Given the description of an element on the screen output the (x, y) to click on. 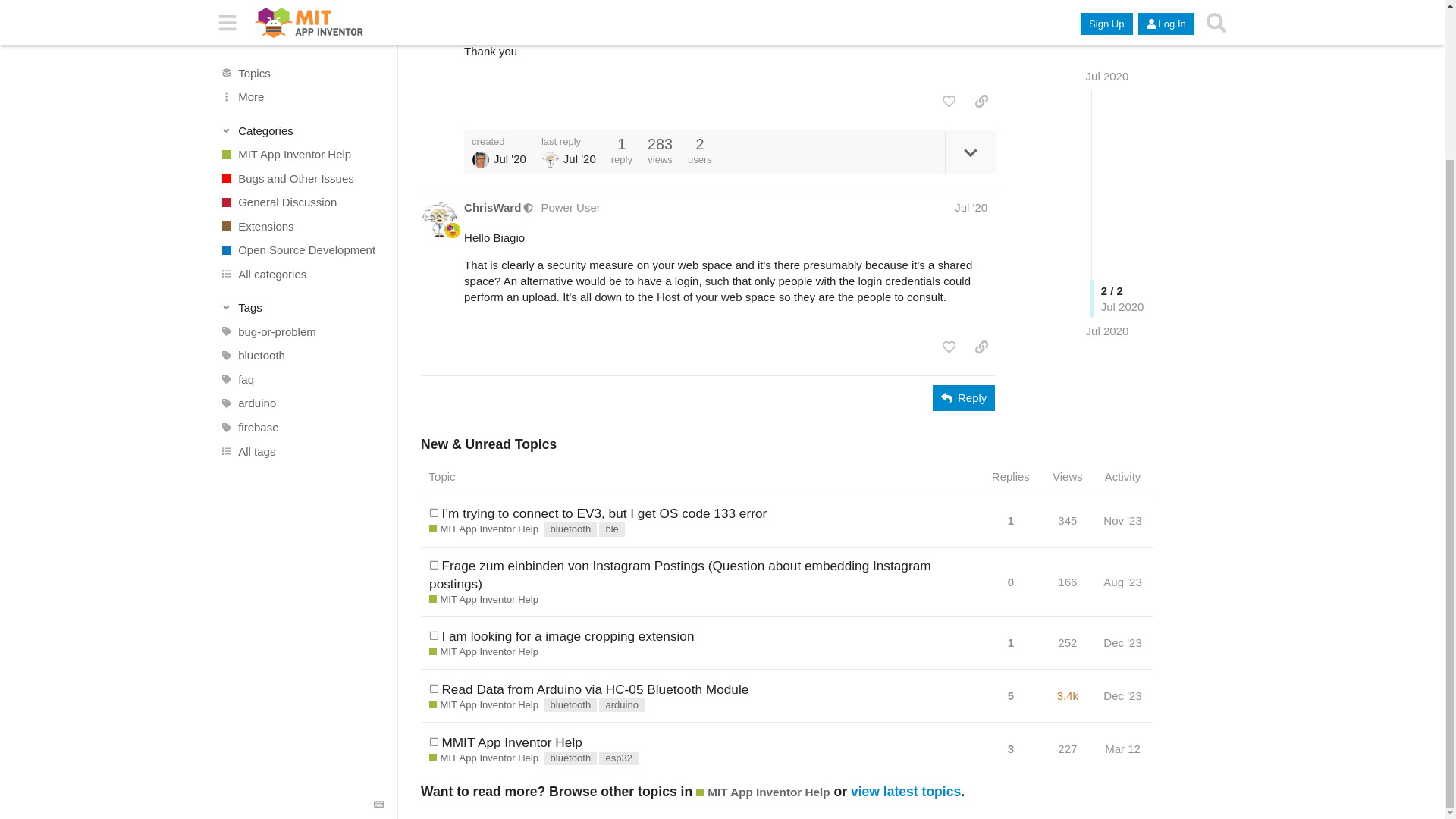
last reply (568, 141)
Report potential issues with App Inventor in this category. (301, 1)
faq (301, 191)
Jul 2020 (1107, 186)
bluetooth (301, 167)
firebase (301, 239)
Bugs and Other Issues (301, 1)
General Discussion (301, 14)
All categories (301, 86)
arduino (301, 215)
